Given the description of an element on the screen output the (x, y) to click on. 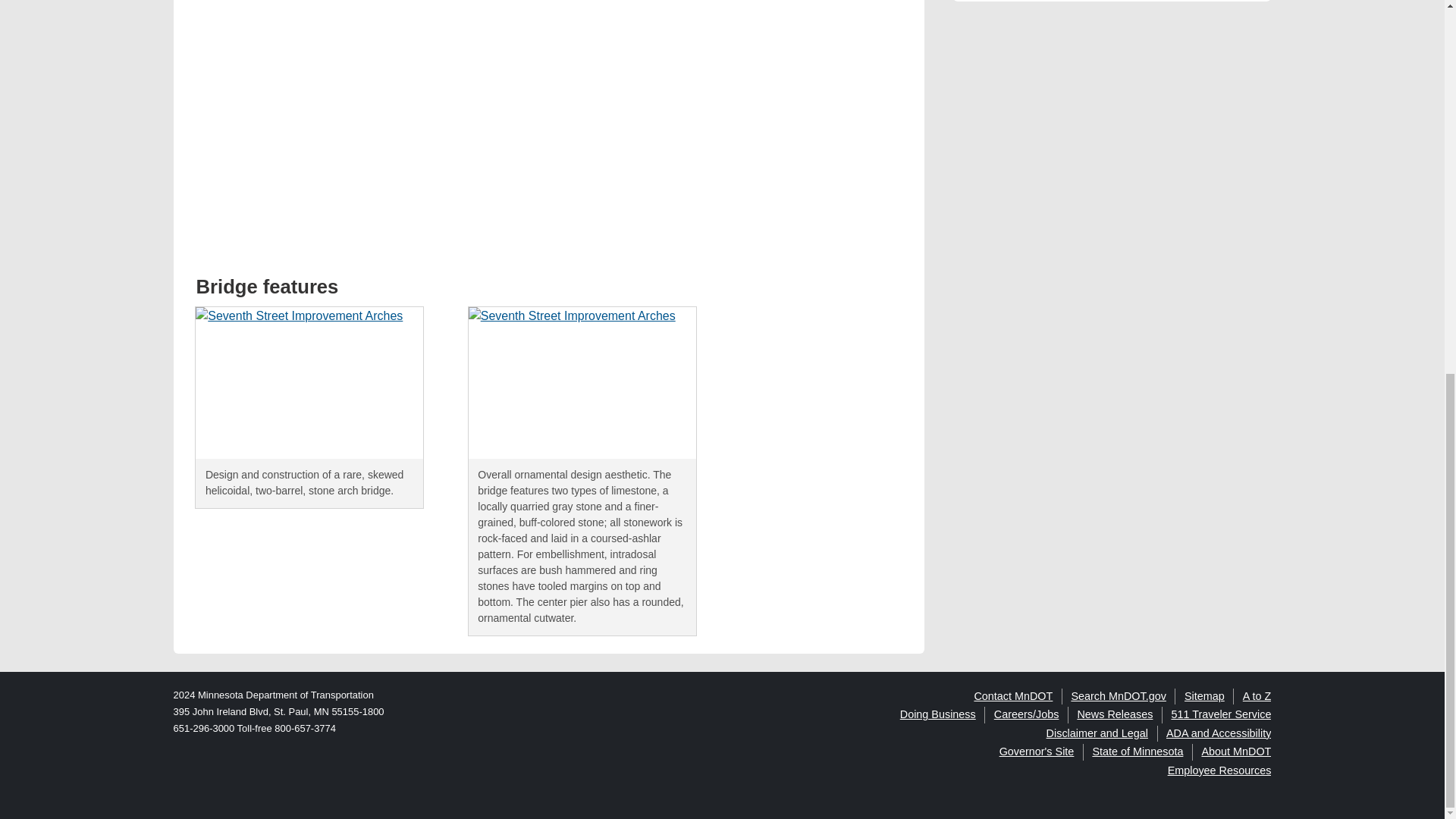
Governor's Site (1036, 751)
News Releases (1115, 714)
511 Traveler Service (1220, 714)
Contact MnDOT (1013, 695)
Employee Resources (1219, 770)
Bridge location (423, 125)
About MnDOT (1236, 751)
State of Minnesota (1137, 751)
ADA and Accessibility (1218, 733)
Doing Business (937, 714)
